Given the description of an element on the screen output the (x, y) to click on. 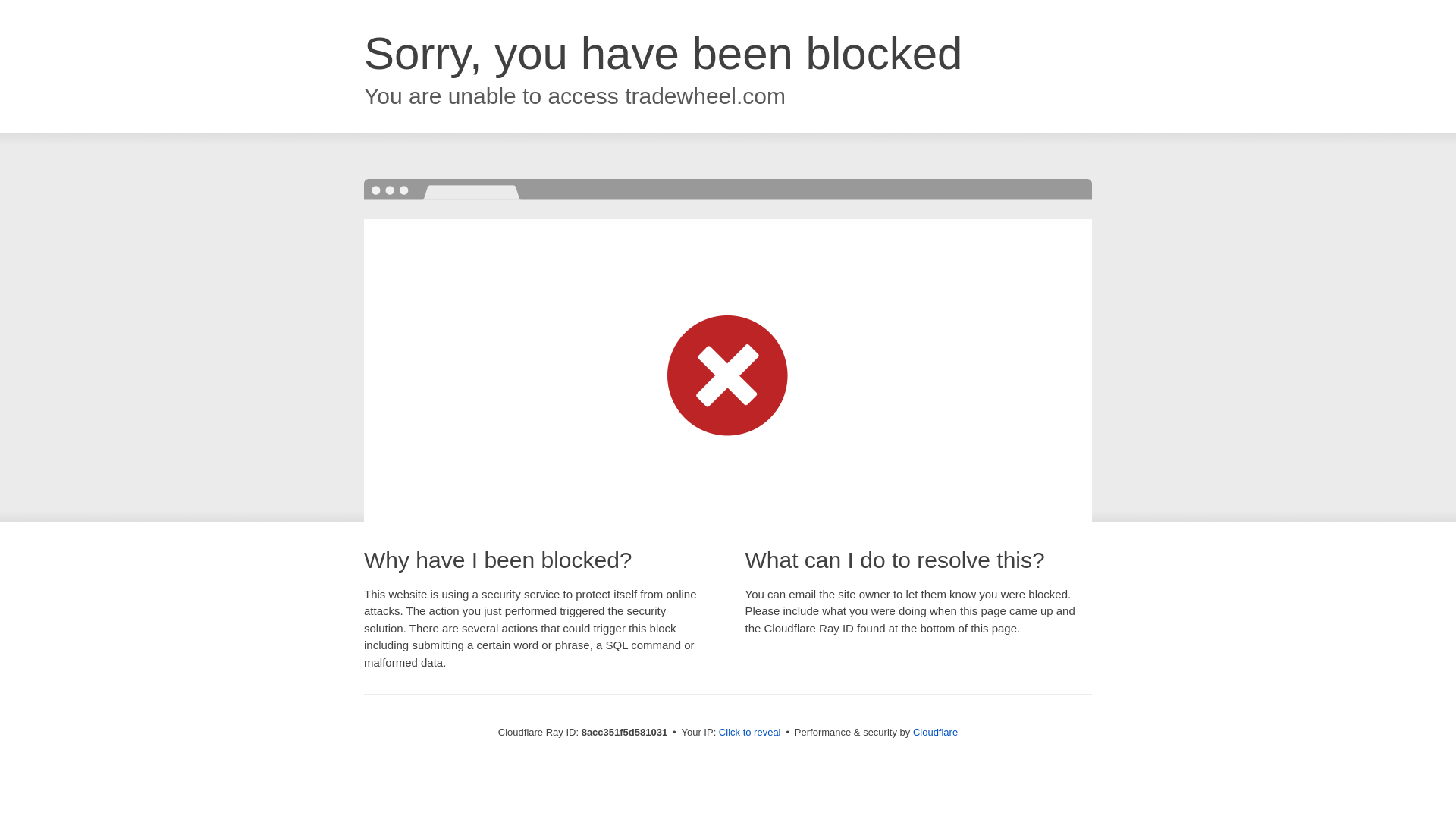
Click to reveal (749, 732)
Cloudflare (935, 731)
